Given the description of an element on the screen output the (x, y) to click on. 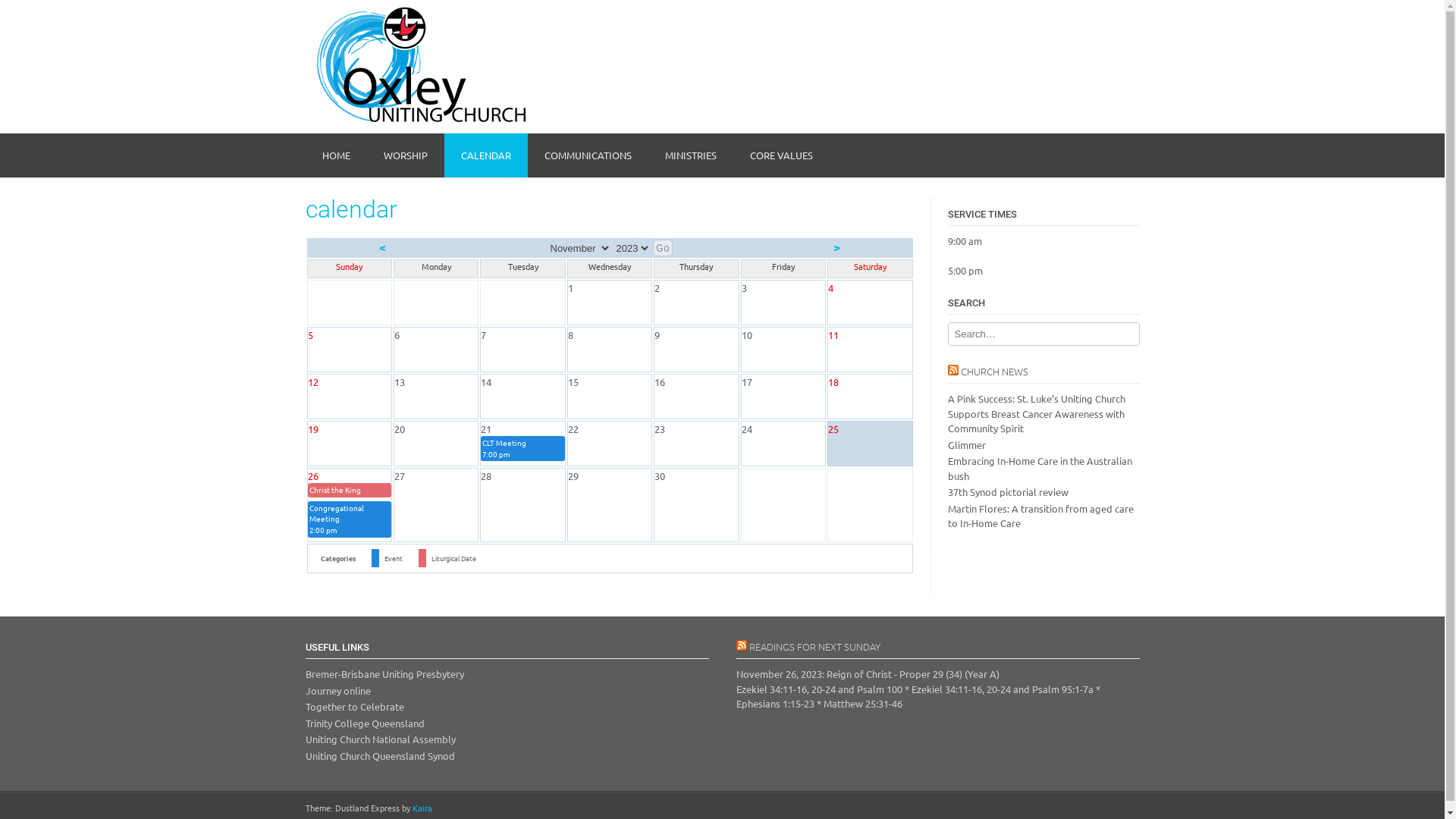
Uniting Church National Assembly Element type: text (379, 738)
Embracing In-Home Care in the Australian bush Element type: text (1039, 468)
< Element type: text (382, 246)
Congregational Meeting
2:00 pm Element type: text (349, 519)
Journey online Element type: text (337, 690)
Together to Celebrate Element type: text (353, 705)
WORSHIP Element type: text (405, 155)
Search for: Element type: hover (1043, 333)
Trinity College Queensland Element type: text (363, 722)
CORE VALUES Element type: text (780, 155)
Kaira Element type: text (422, 807)
37th Synod pictorial review Element type: text (1007, 491)
Glimmer Element type: text (966, 444)
READINGS FOR NEXT SUNDAY Element type: text (814, 646)
Uniting Church Queensland Synod Element type: text (379, 755)
November 26, 2023: Reign of Christ - Proper 29 (34) (Year A) Element type: text (866, 673)
Christ the King Element type: text (349, 490)
HOME Element type: text (335, 155)
CLT Meeting
7:00 pm Element type: text (522, 448)
> Element type: text (836, 246)
Oxley Uniting Church Element type: hover (414, 66)
CALENDAR Element type: text (485, 155)
COMMUNICATIONS Element type: text (587, 155)
CHURCH NEWS Element type: text (993, 371)
Bremer-Brisbane Uniting Presbytery Element type: text (383, 673)
MINISTRIES Element type: text (689, 155)
Martin Flores: A transition from aged care to In-Home Care Element type: text (1040, 516)
Go Element type: text (661, 247)
